Given the description of an element on the screen output the (x, y) to click on. 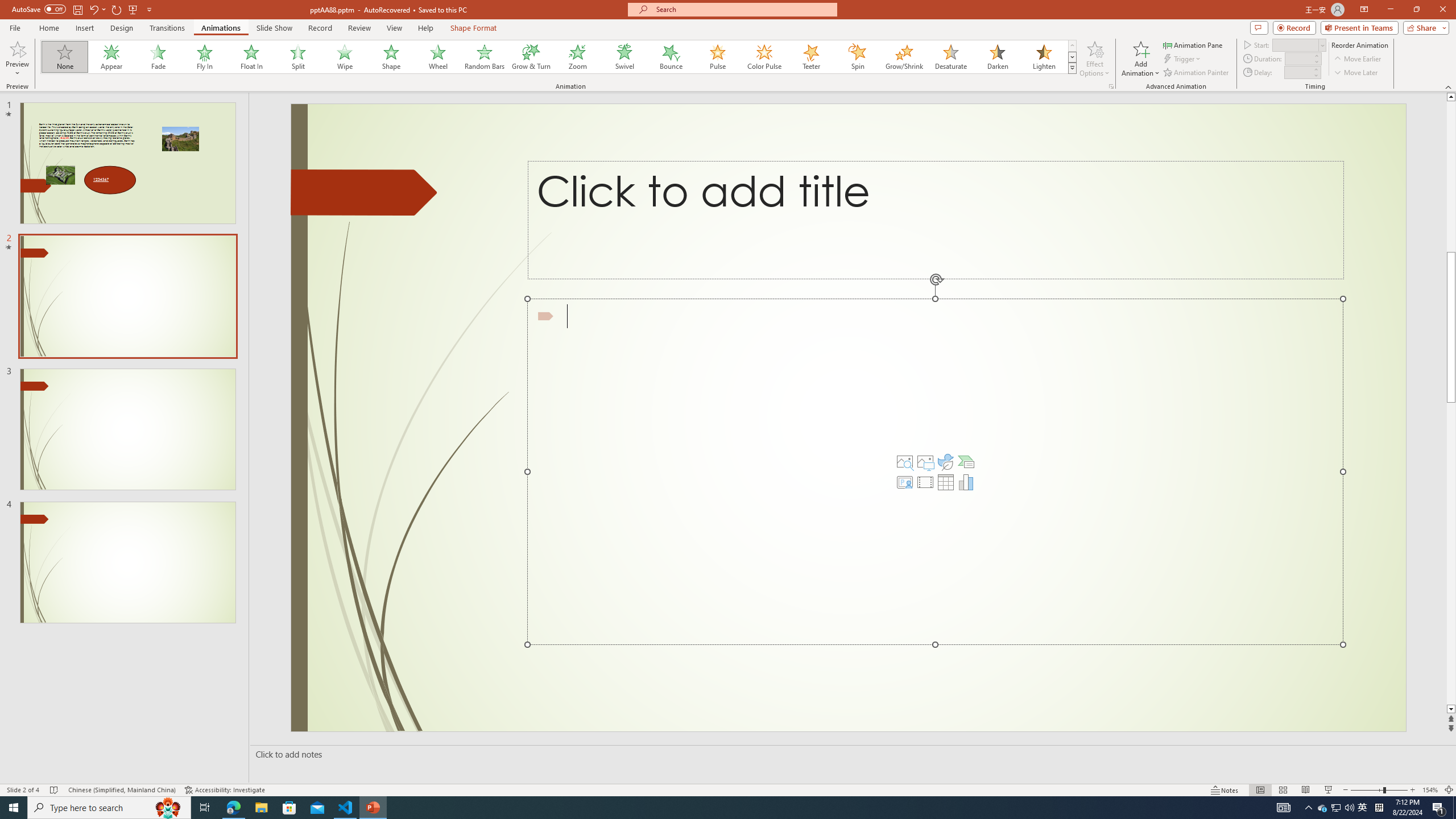
Appear (111, 56)
